Given the description of an element on the screen output the (x, y) to click on. 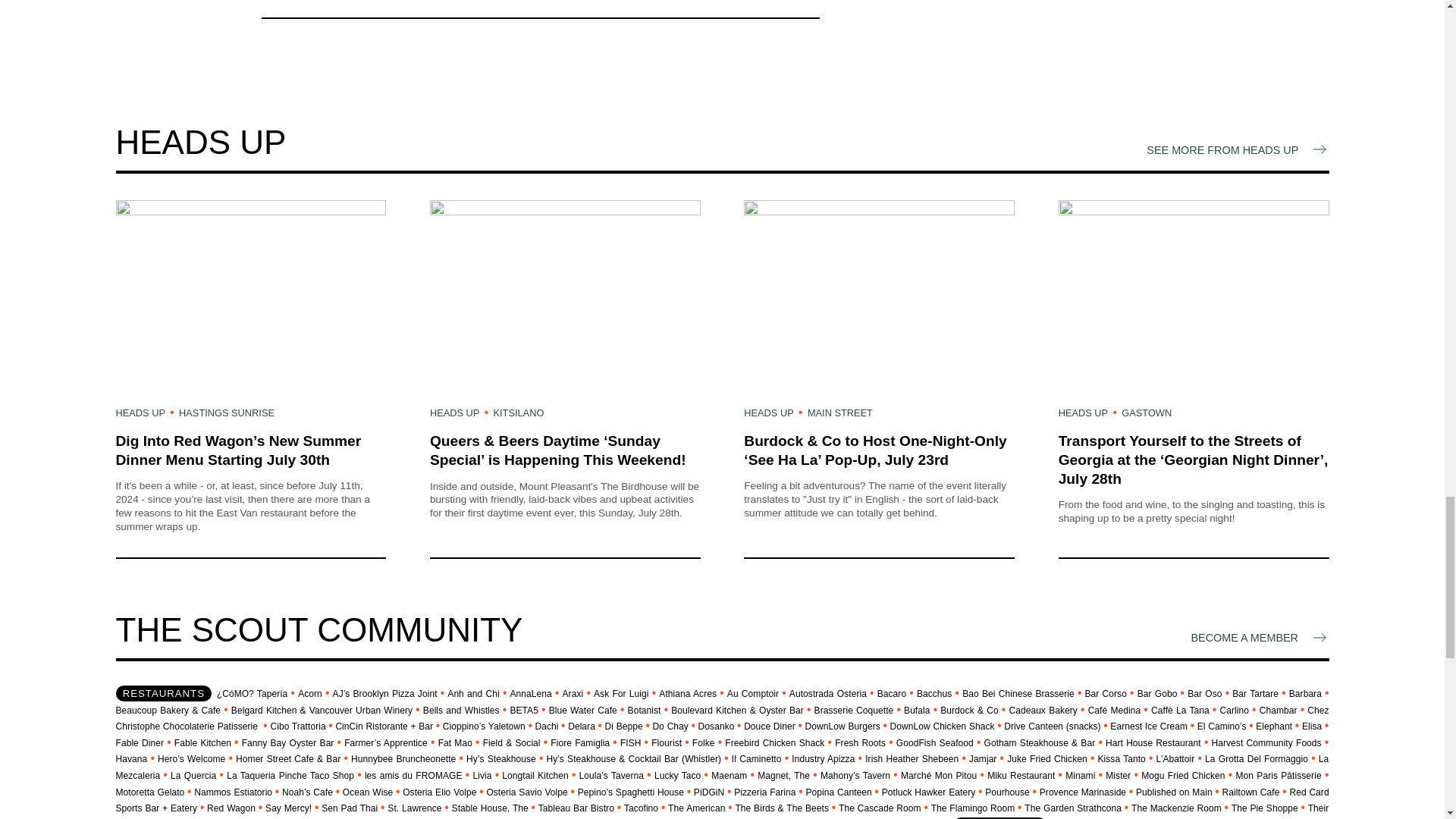
KITSILANO (518, 412)
HEADS UP (139, 412)
HASTINGS SUNRISE (227, 412)
HEADS UP (454, 412)
